Given the description of an element on the screen output the (x, y) to click on. 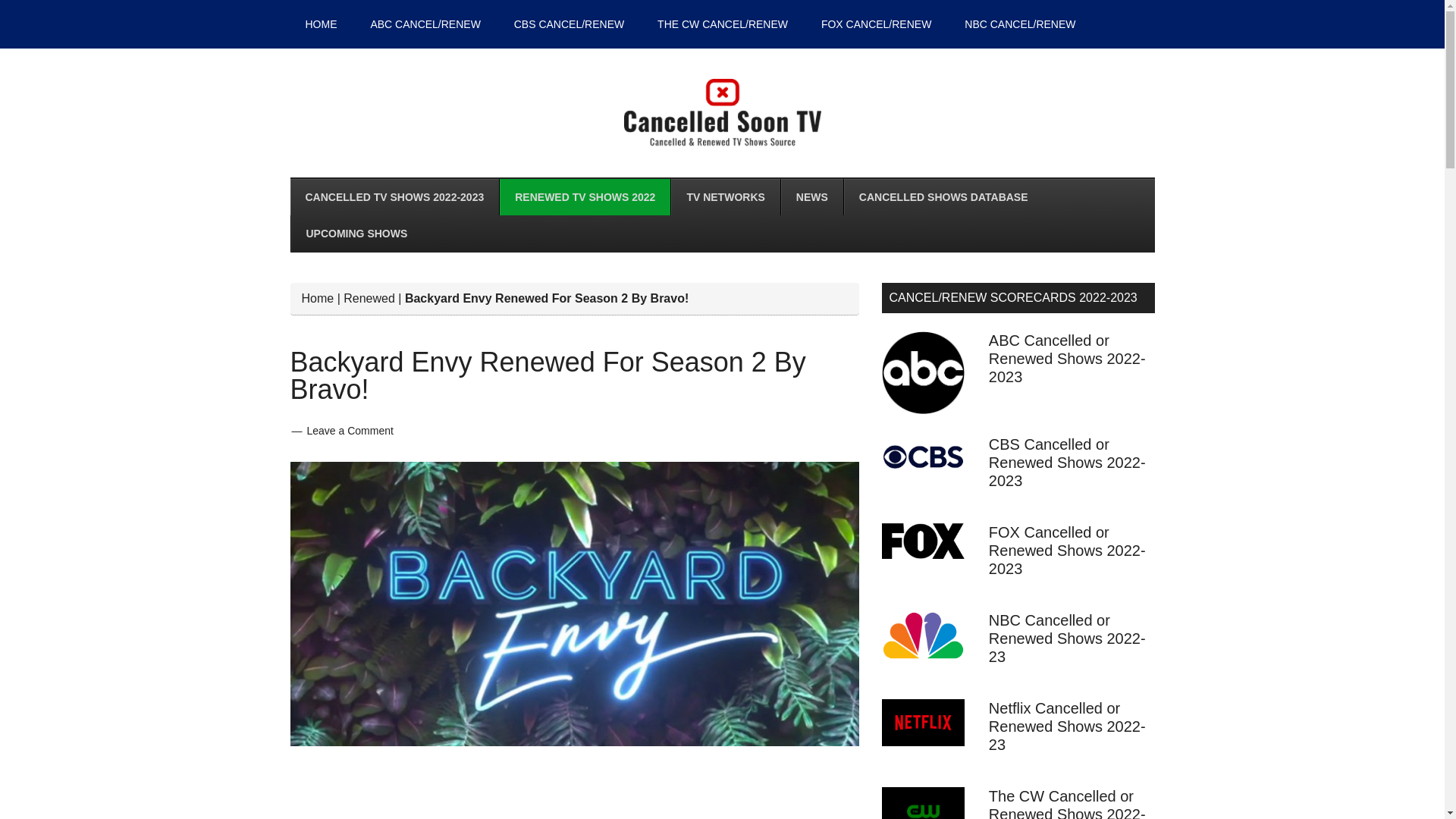
Leave a Comment (349, 430)
HOME (320, 24)
CANCELLED TV SHOWS 2022-2023 (394, 197)
RENEWED TV SHOWS 2022 (584, 197)
FOX Cancelled or Renewed Shows 2022-2023 (1066, 550)
ABC Cancelled or Renewed Shows 2022-2023 (1066, 358)
Renewed (368, 297)
NEWS (811, 197)
UPCOMING SHOWS (355, 233)
